Given the description of an element on the screen output the (x, y) to click on. 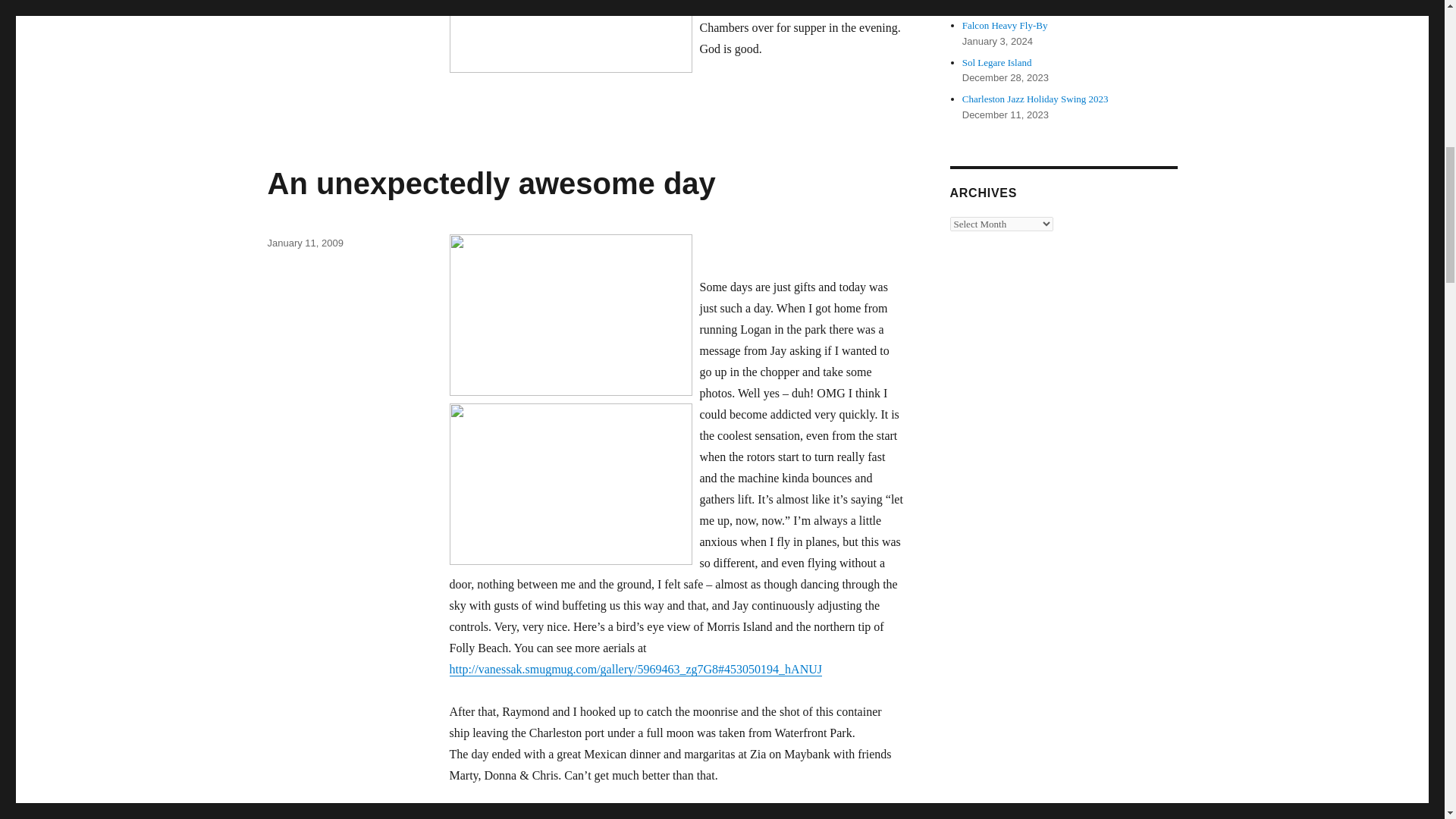
An unexpectedly awesome day (490, 183)
January 11, 2009 (304, 242)
